Given the description of an element on the screen output the (x, y) to click on. 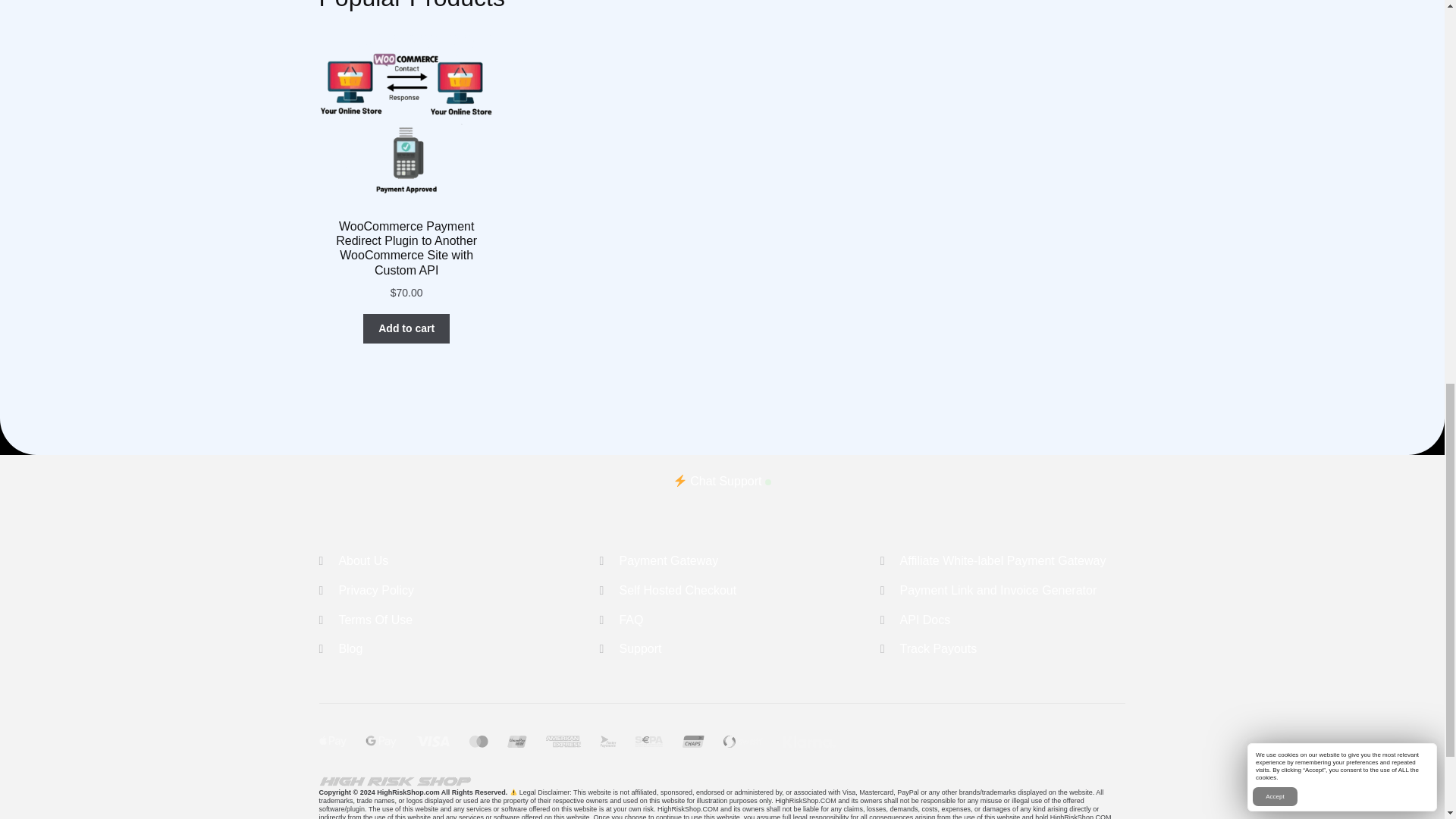
Support (639, 648)
Terms Of Use (374, 619)
Add to cart (405, 328)
Chat Support (721, 481)
FAQ (630, 619)
Blog (349, 648)
About Us (362, 560)
Privacy Policy (375, 590)
Payment Gateway (667, 560)
Self Hosted Checkout (677, 590)
